Given the description of an element on the screen output the (x, y) to click on. 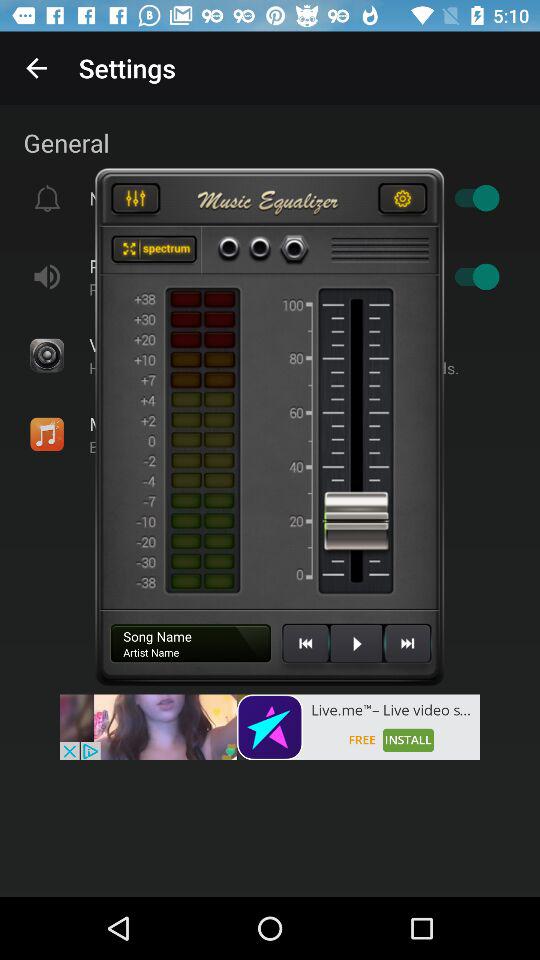
maximizes it (154, 250)
